Given the description of an element on the screen output the (x, y) to click on. 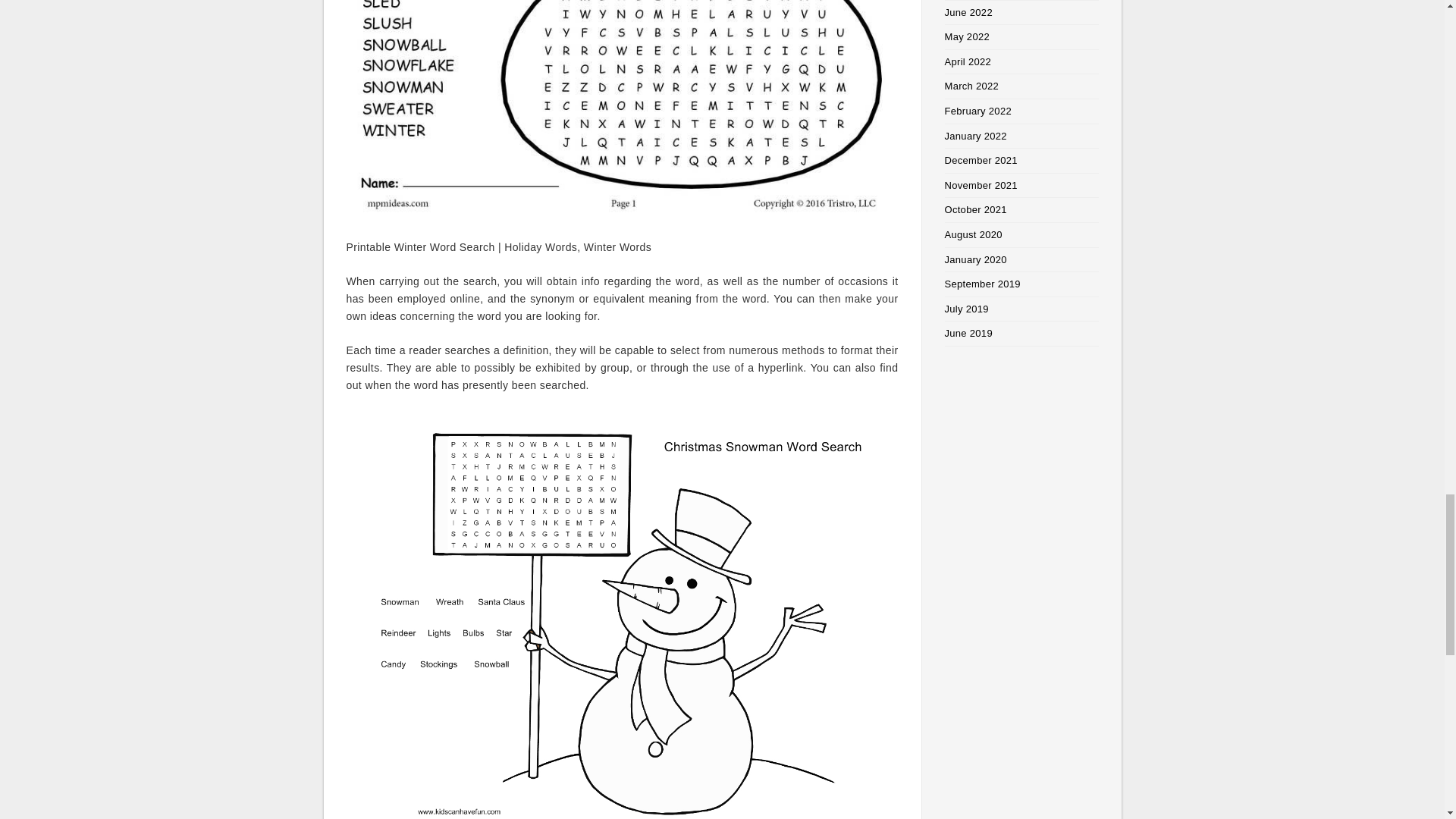
printable winter word search holiday words winter words 2 (622, 111)
